Given the description of an element on the screen output the (x, y) to click on. 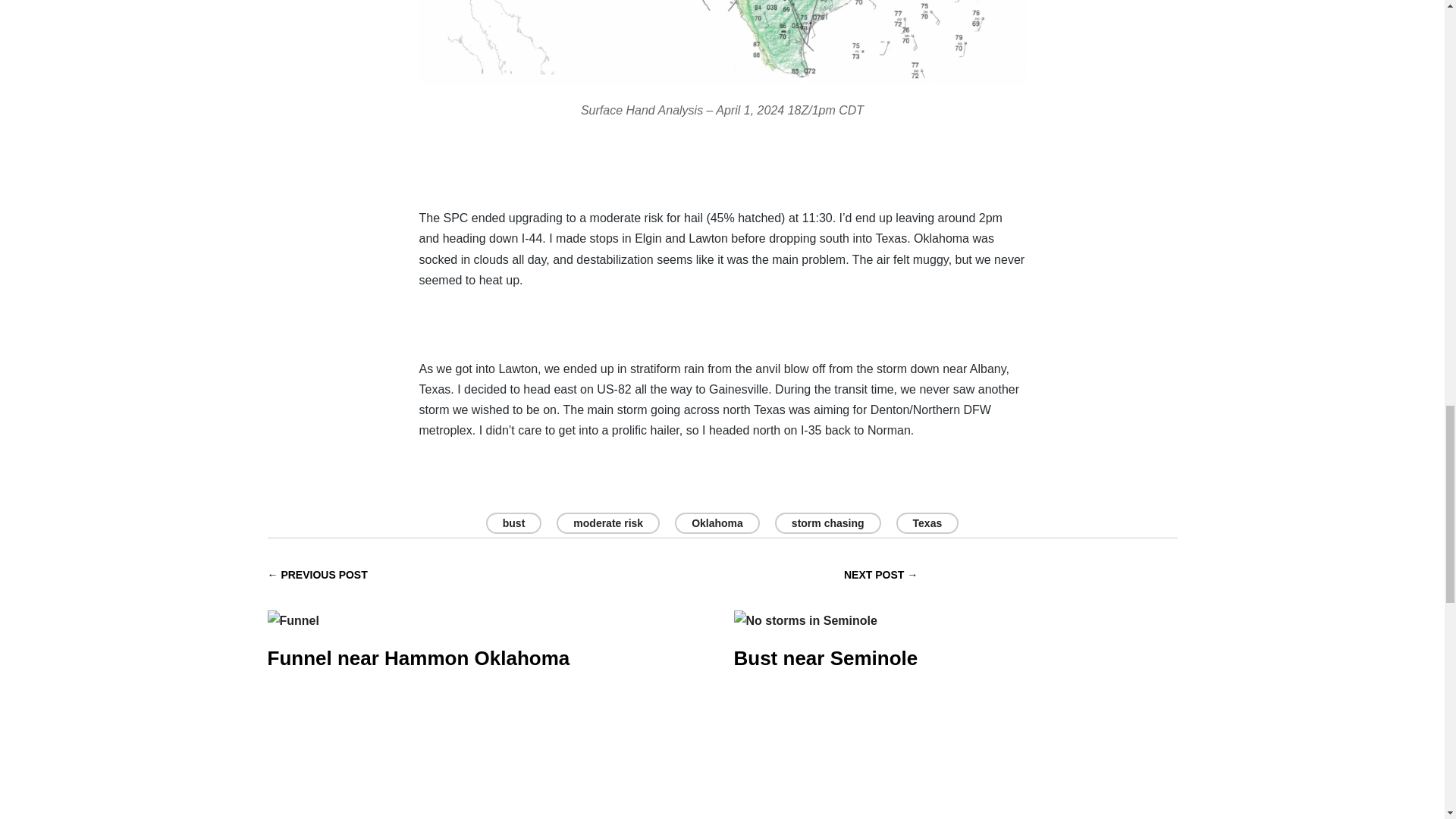
moderate risk (607, 522)
Texas (927, 522)
Funnel near Hammon Oklahoma (417, 628)
Bust near Seminole (825, 628)
storm chasing (827, 522)
Oklahoma (717, 522)
bust (513, 522)
